Given the description of an element on the screen output the (x, y) to click on. 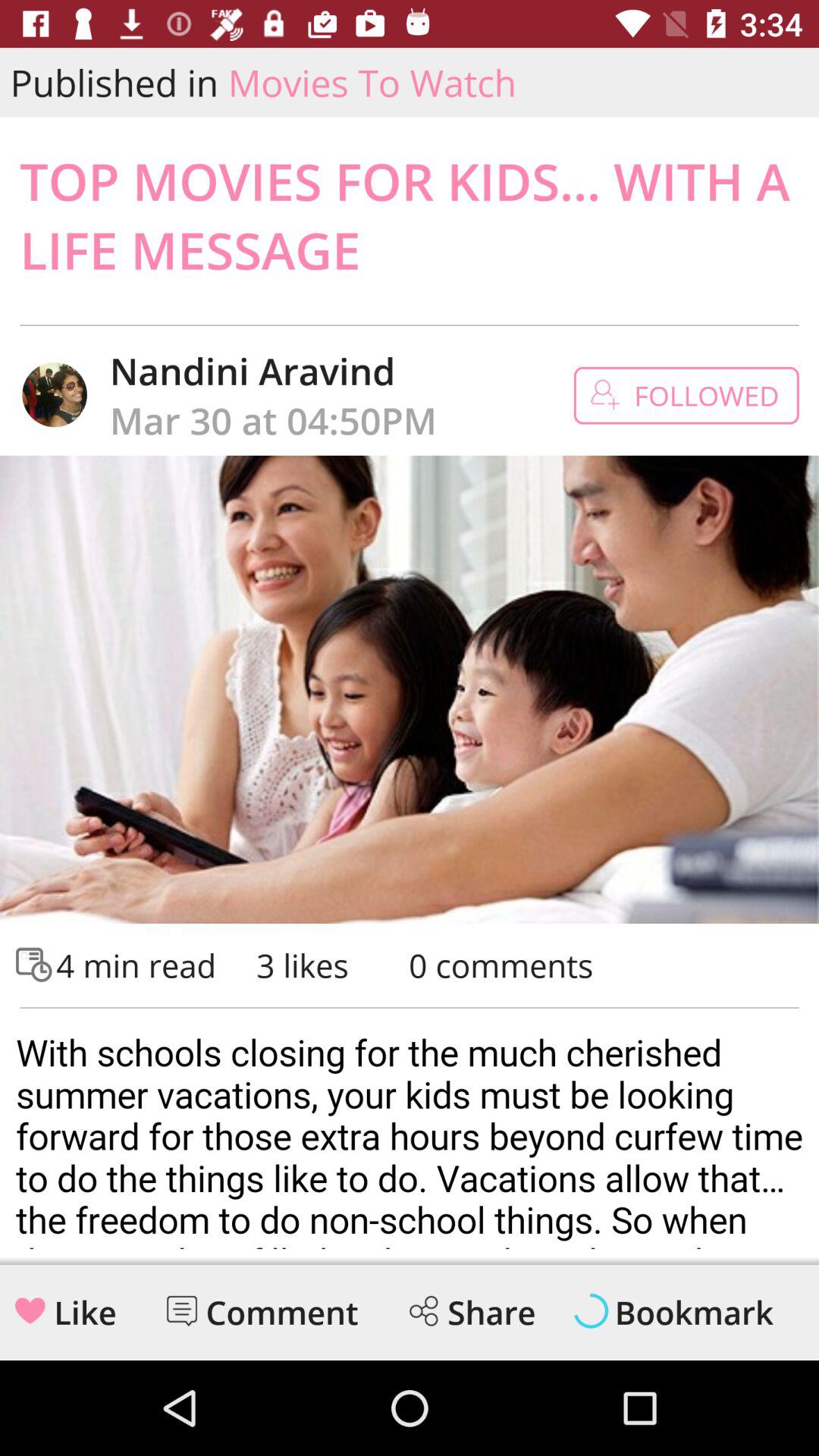
go to comment (181, 1310)
